Given the description of an element on the screen output the (x, y) to click on. 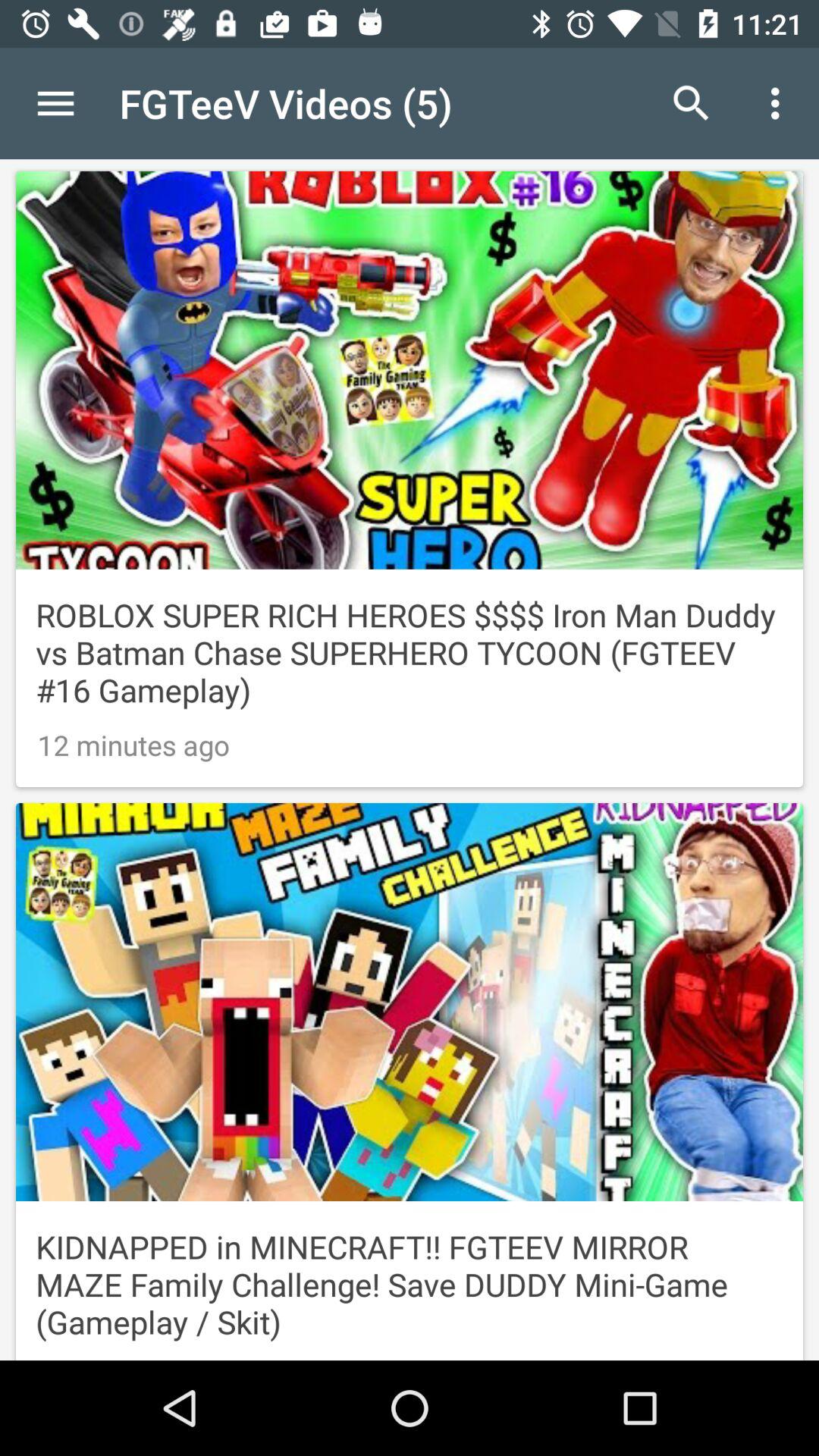
click icon next to the fgteev videos (5) app (55, 103)
